Given the description of an element on the screen output the (x, y) to click on. 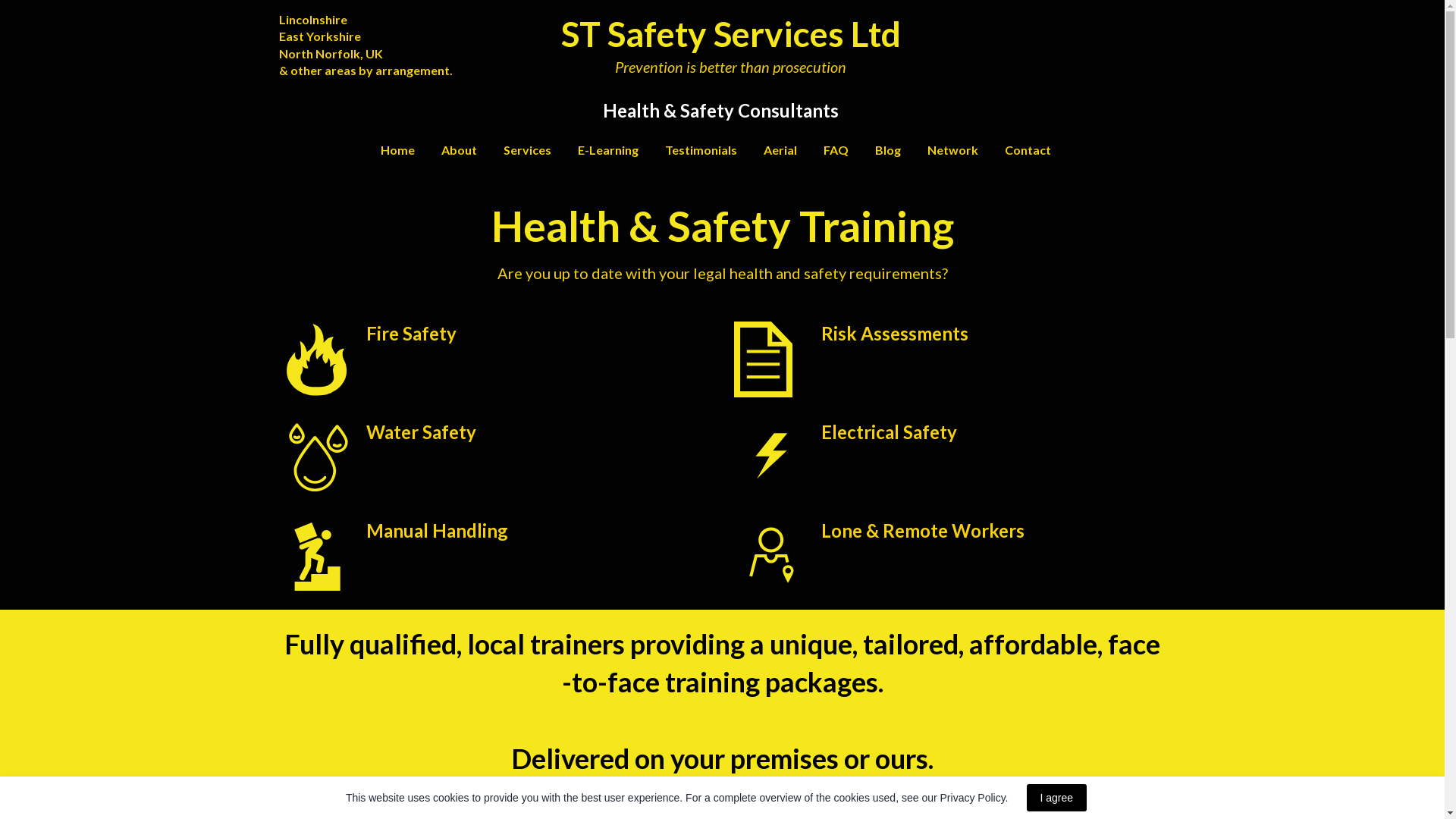
Testimonials (700, 149)
Home (397, 149)
Blog (888, 149)
Aerial (779, 149)
E-Learning (608, 149)
About (459, 149)
FAQ (836, 149)
ST Safety Services Ltd (730, 33)
Network (952, 149)
Services (527, 149)
